Given the description of an element on the screen output the (x, y) to click on. 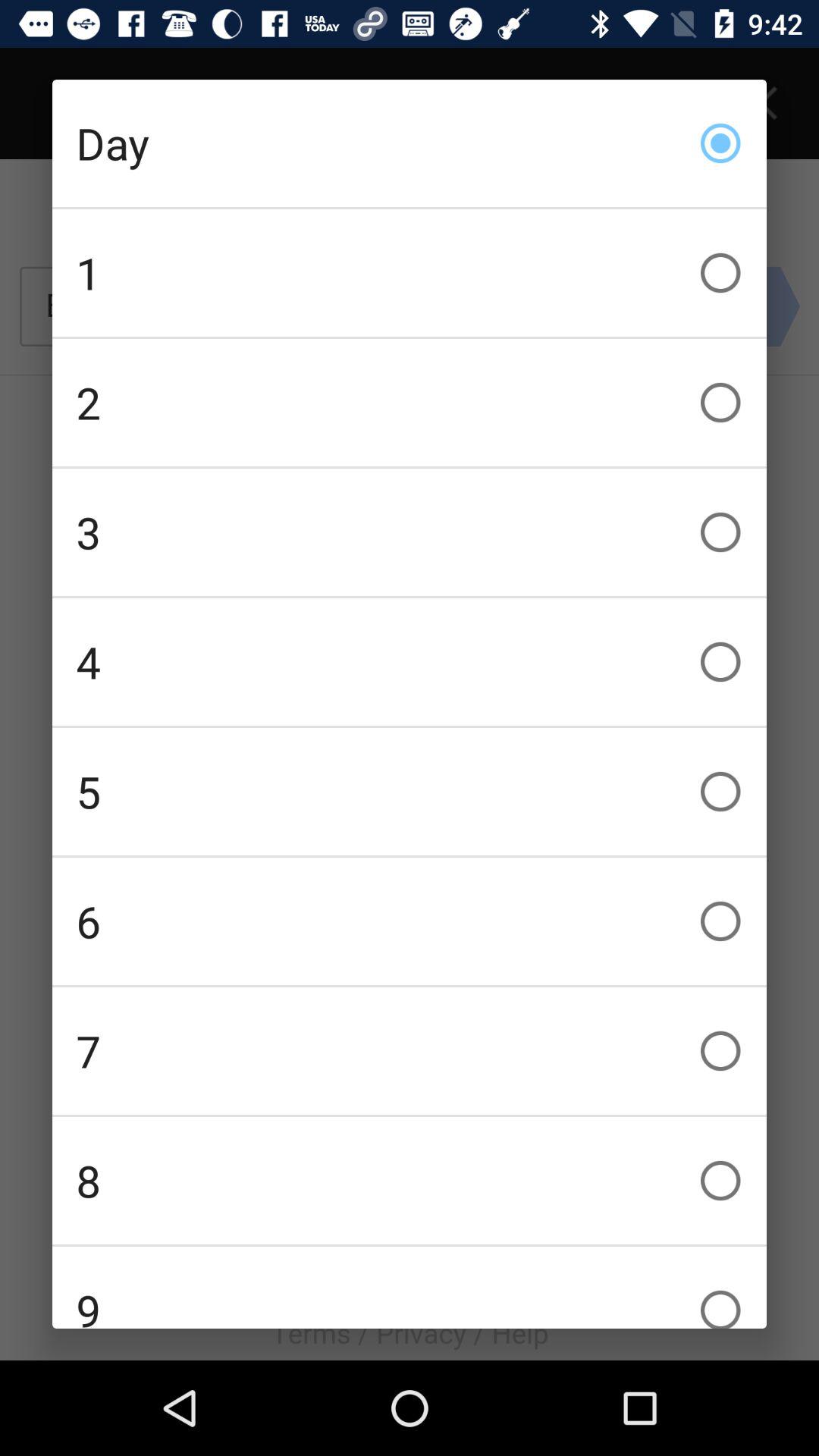
turn off the icon below the 3 checkbox (409, 661)
